Given the description of an element on the screen output the (x, y) to click on. 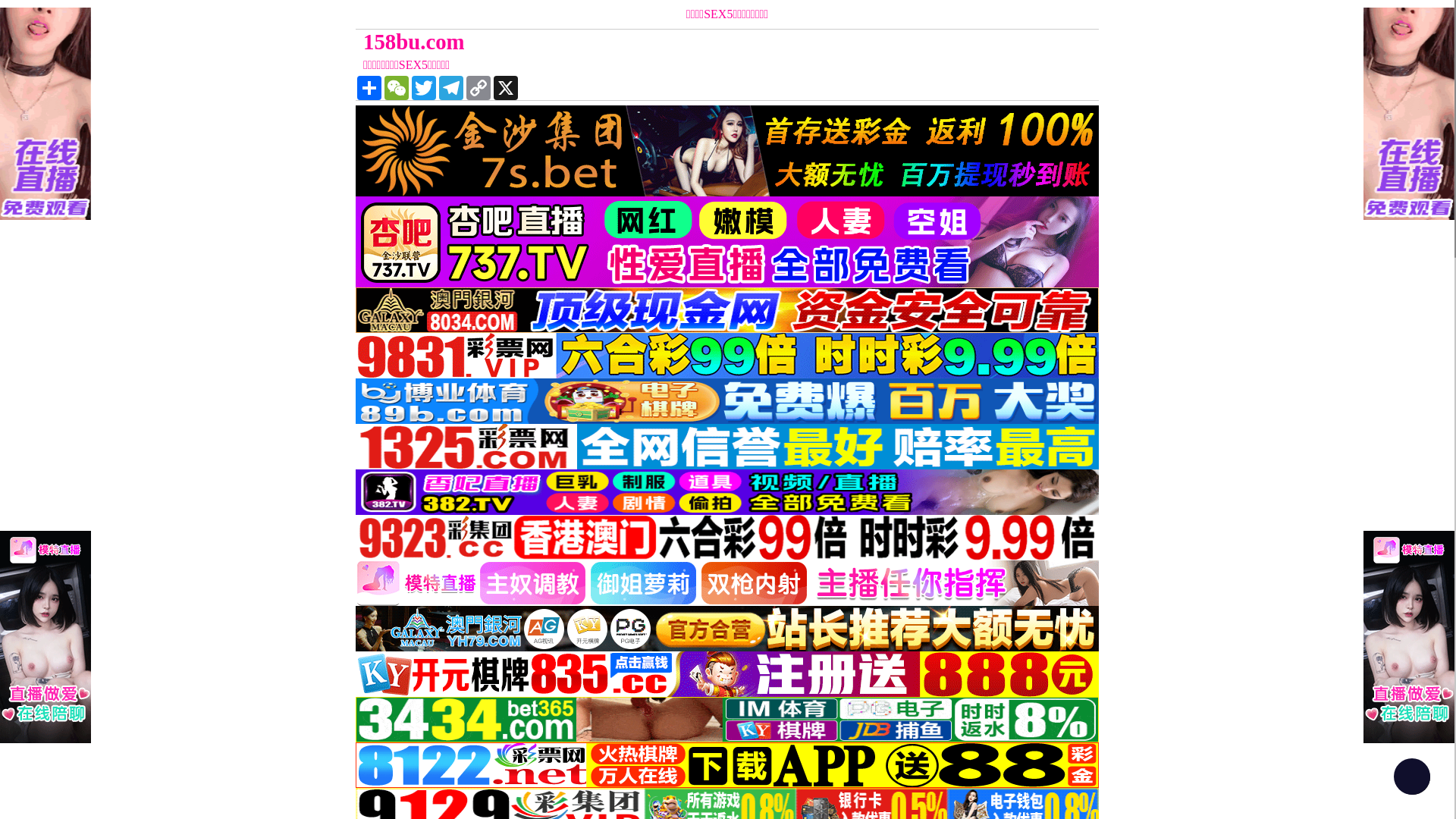
Telegram Element type: text (450, 87)
WeChat Element type: text (396, 87)
X Element type: text (505, 87)
Twitter Element type: text (423, 87)
Copy Link Element type: text (478, 87)
158bu.com Element type: text (634, 41)
